Given the description of an element on the screen output the (x, y) to click on. 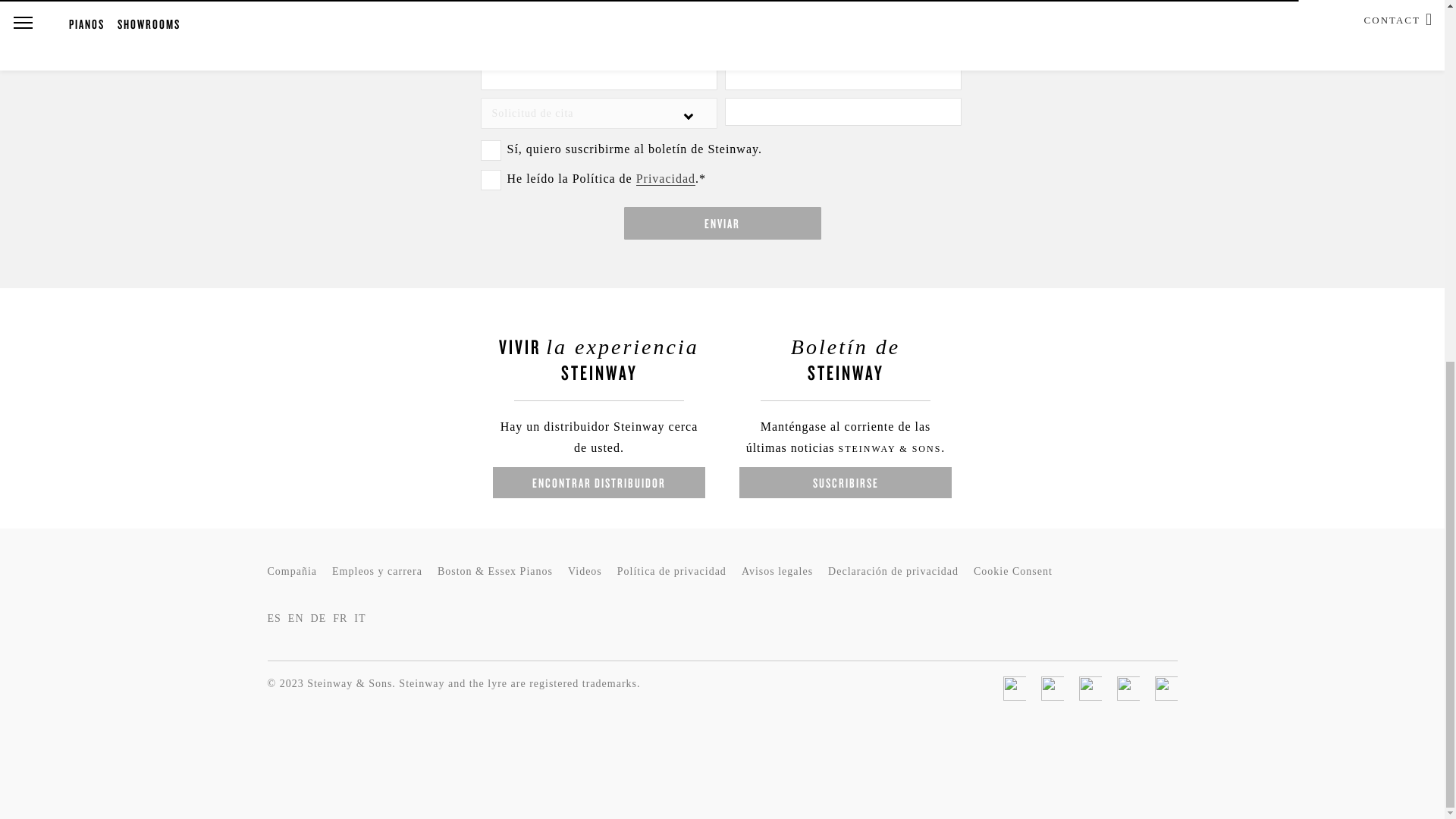
Privacidad (665, 178)
ENVIAR (722, 223)
SUSCRIBIRSE (845, 481)
Opens internal link in current window (665, 178)
ENCONTRAR DISTRIBUIDOR (598, 481)
